Given the description of an element on the screen output the (x, y) to click on. 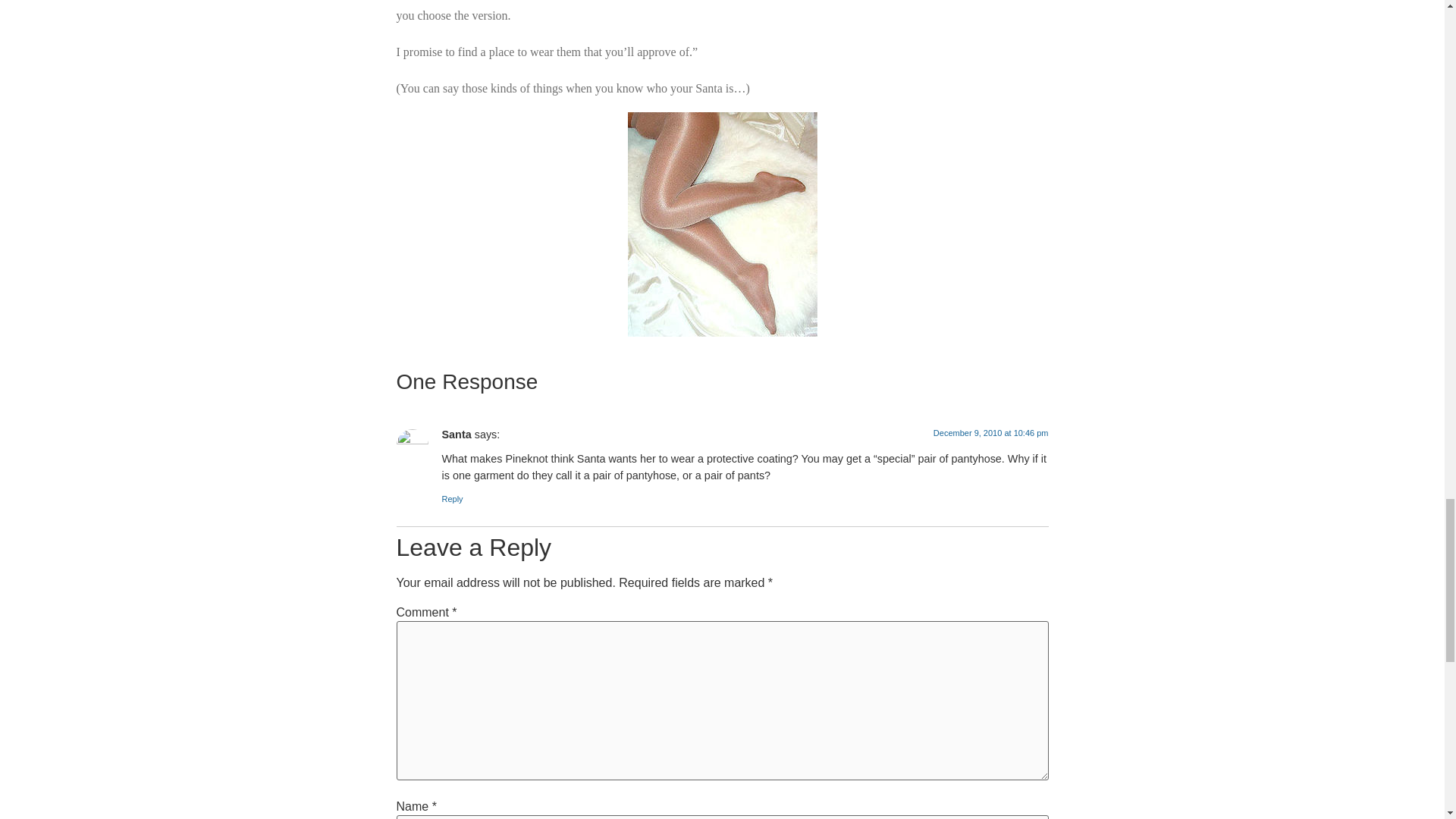
Reply (452, 498)
December 9, 2010 at 10:46 pm (990, 432)
